Given the description of an element on the screen output the (x, y) to click on. 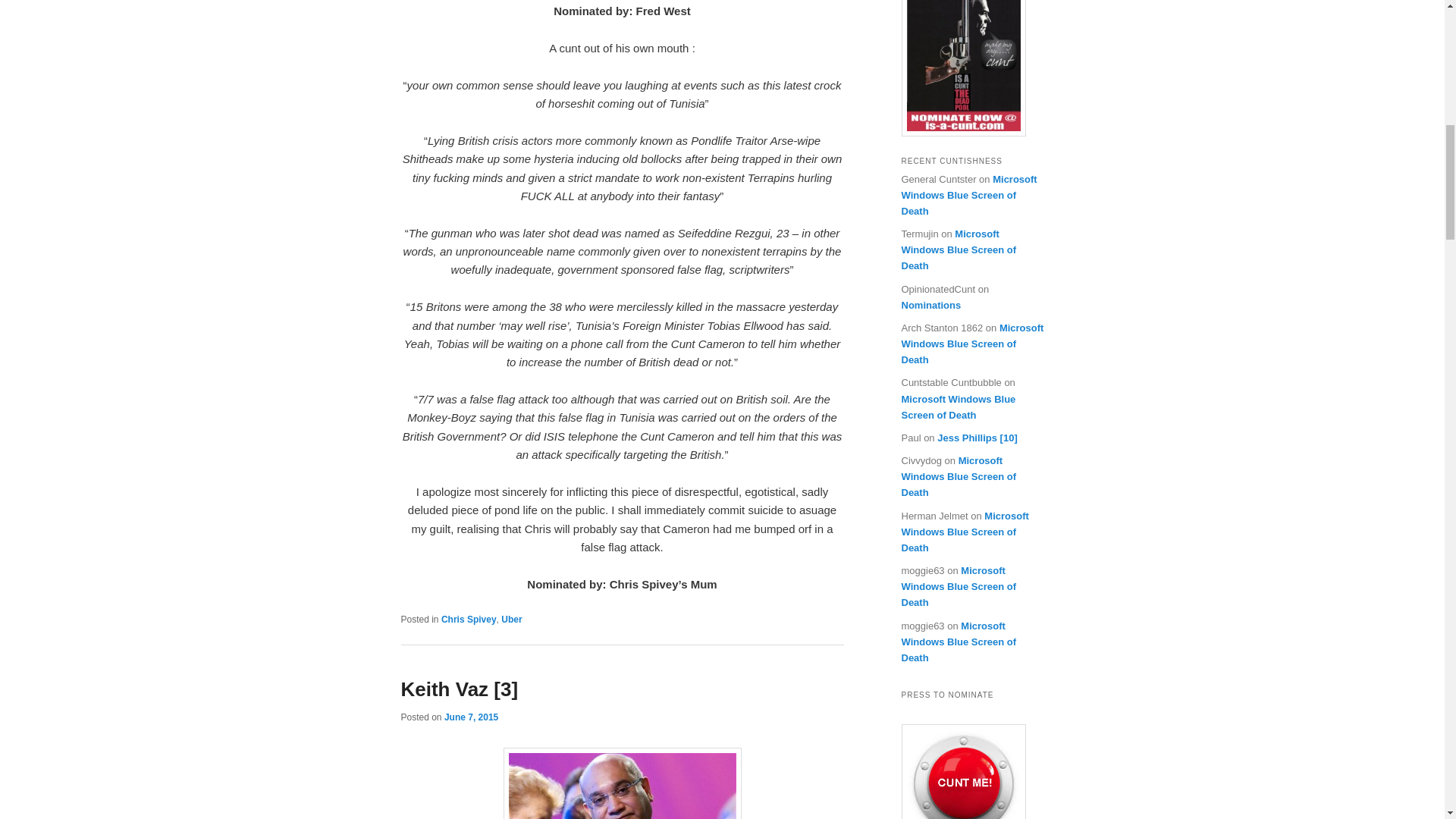
Chris Spivey (468, 619)
Uber (510, 619)
June 7, 2015 (470, 716)
